Given the description of an element on the screen output the (x, y) to click on. 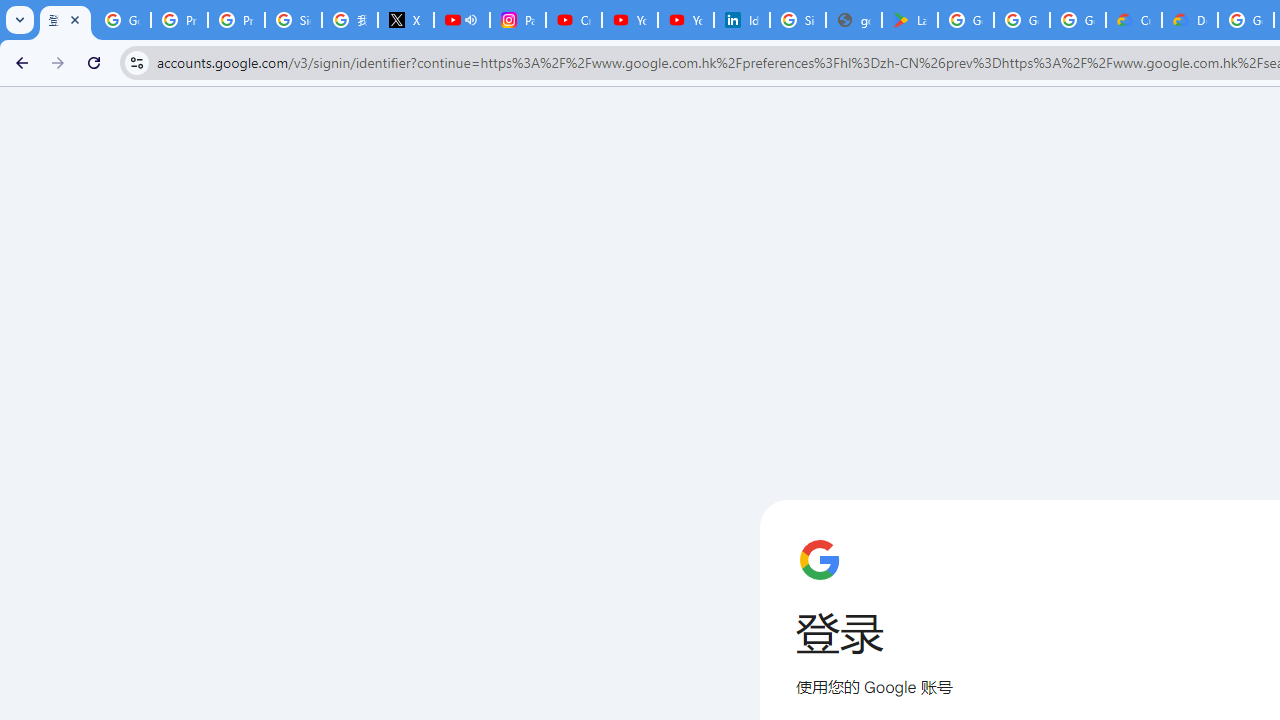
X (405, 20)
Sign in - Google Accounts (797, 20)
YouTube Culture & Trends - YouTube Top 10, 2021 (685, 20)
Mute tab (470, 20)
Customer Care | Google Cloud (1133, 20)
Google Workspace - Specific Terms (1077, 20)
Last Shelter: Survival - Apps on Google Play (909, 20)
Google Workspace - Specific Terms (1021, 20)
